Given the description of an element on the screen output the (x, y) to click on. 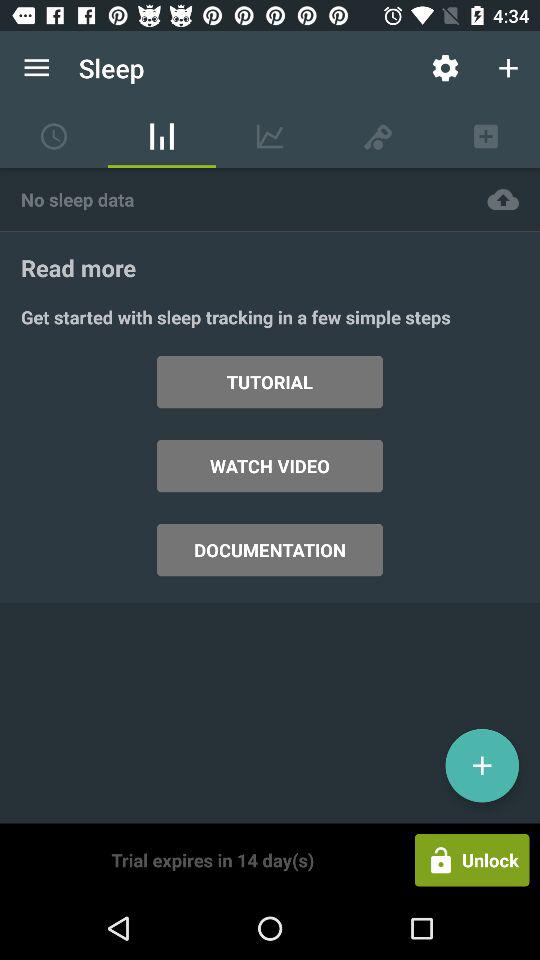
select icon above the unlock item (482, 765)
